Given the description of an element on the screen output the (x, y) to click on. 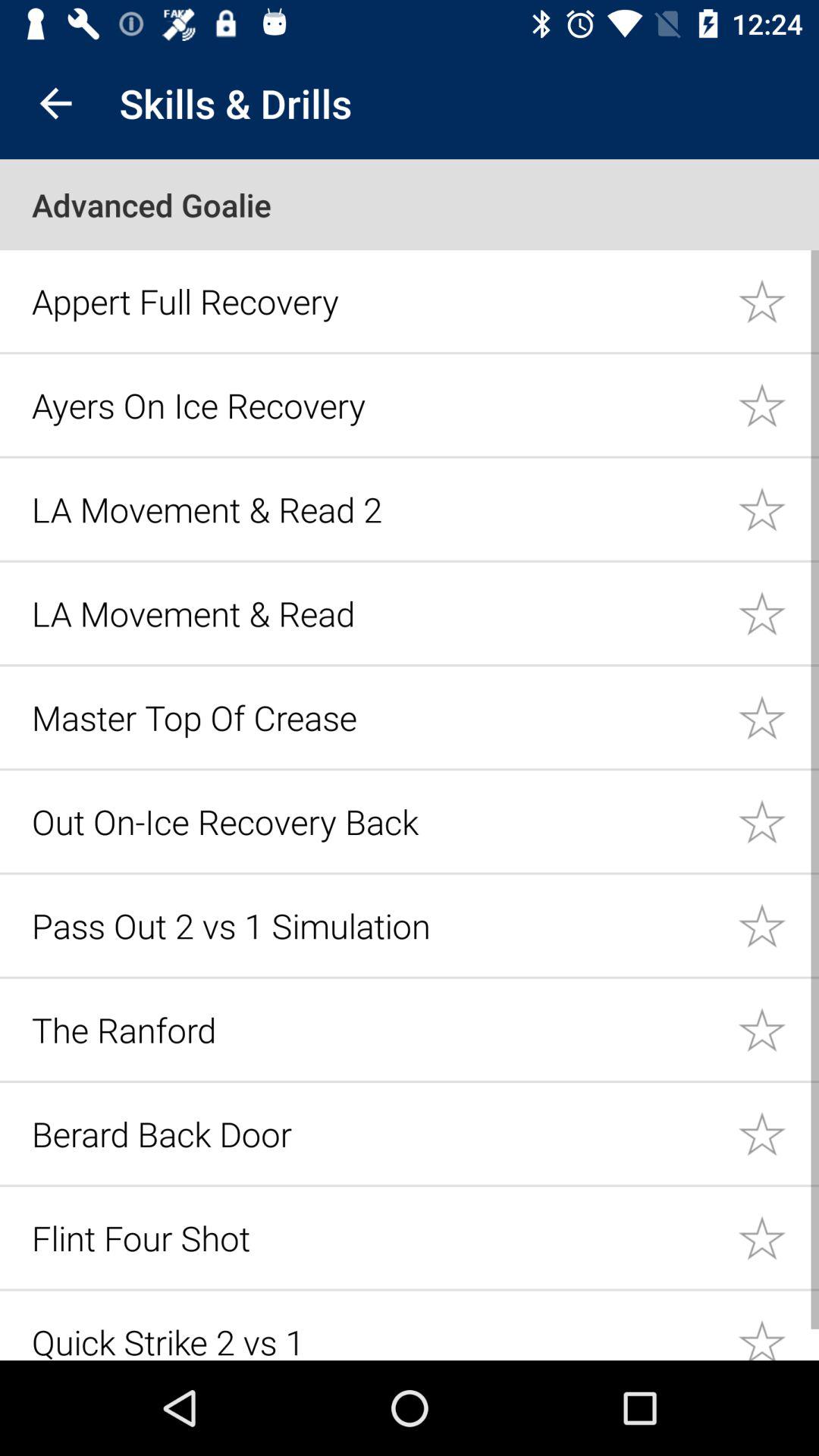
launch icon below the flint four shot icon (376, 1339)
